Given the description of an element on the screen output the (x, y) to click on. 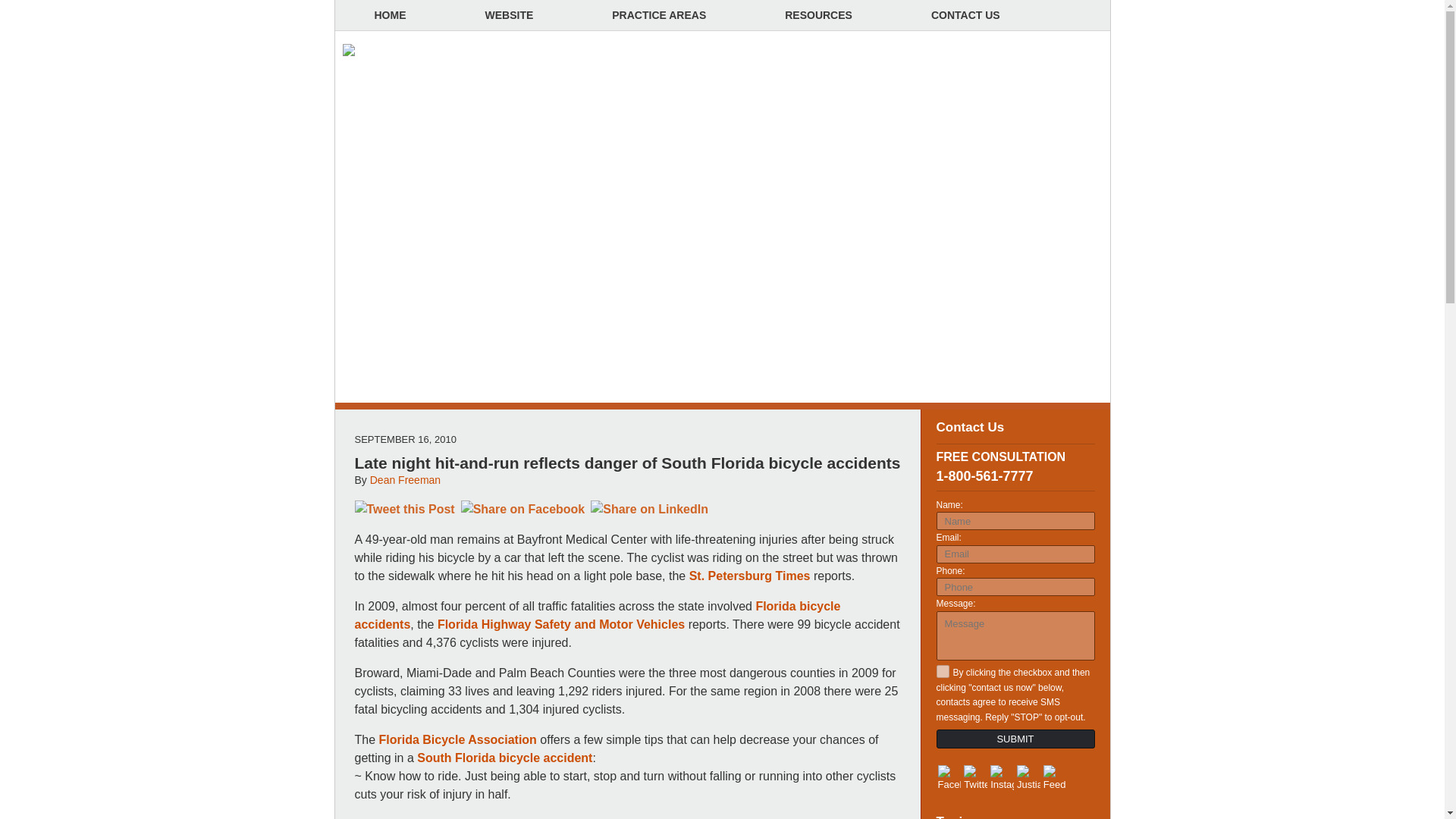
SUBMIT (1015, 738)
South Florida Injury Lawyers Blog (489, 84)
Justia (1028, 778)
Feed (1055, 778)
Facebook (949, 778)
Florida Bicycle Association (457, 739)
Instagram (1001, 778)
WEBSITE (509, 15)
Yes (942, 671)
Published By Freeman Injury Law (981, 81)
